Given the description of an element on the screen output the (x, y) to click on. 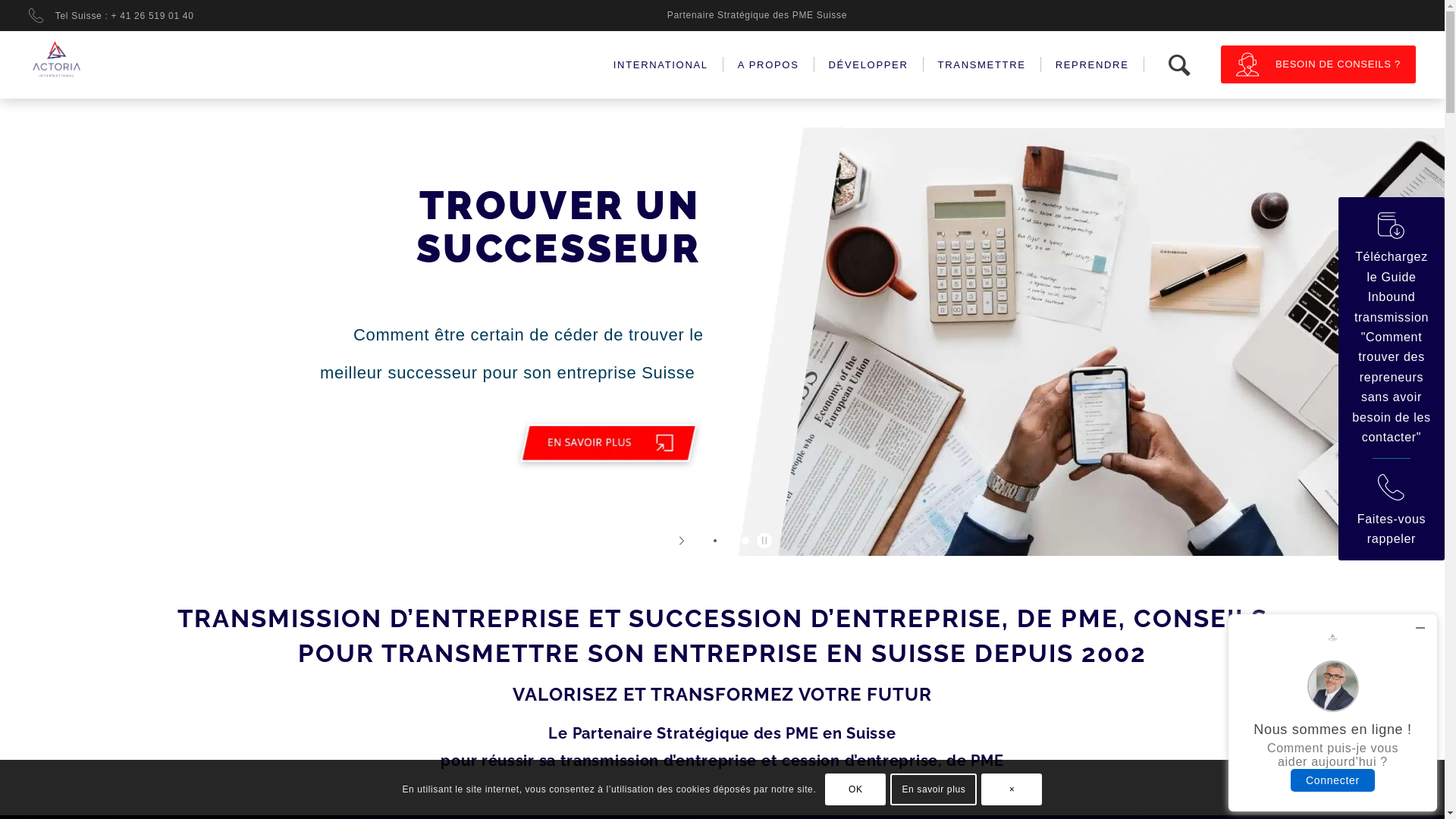
transmission Element type: text (609, 760)
INTERNATIONAL Element type: text (662, 64)
OK Element type: text (855, 789)
A PROPOS Element type: text (769, 64)
cession Element type: text (810, 760)
BESOIN DE CONSEILS ? Element type: text (1317, 64)
REPRENDRE Element type: text (1093, 64)
TRANSMETTRE Element type: text (983, 64)
En savoir plus Element type: text (933, 789)
